Given the description of an element on the screen output the (x, y) to click on. 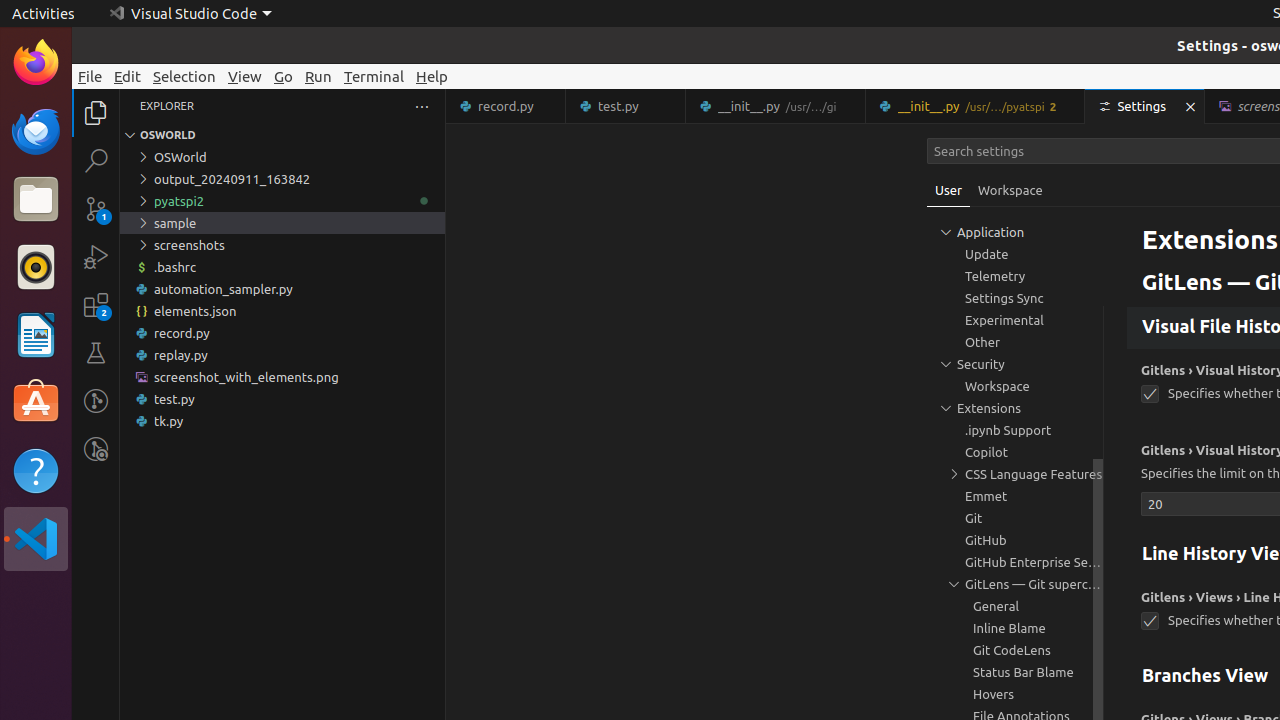
View Element type: push-button (245, 76)
Testing Element type: page-tab (96, 353)
__init__.py Element type: page-tab (975, 106)
tk.py Element type: tree-item (282, 421)
